Given the description of an element on the screen output the (x, y) to click on. 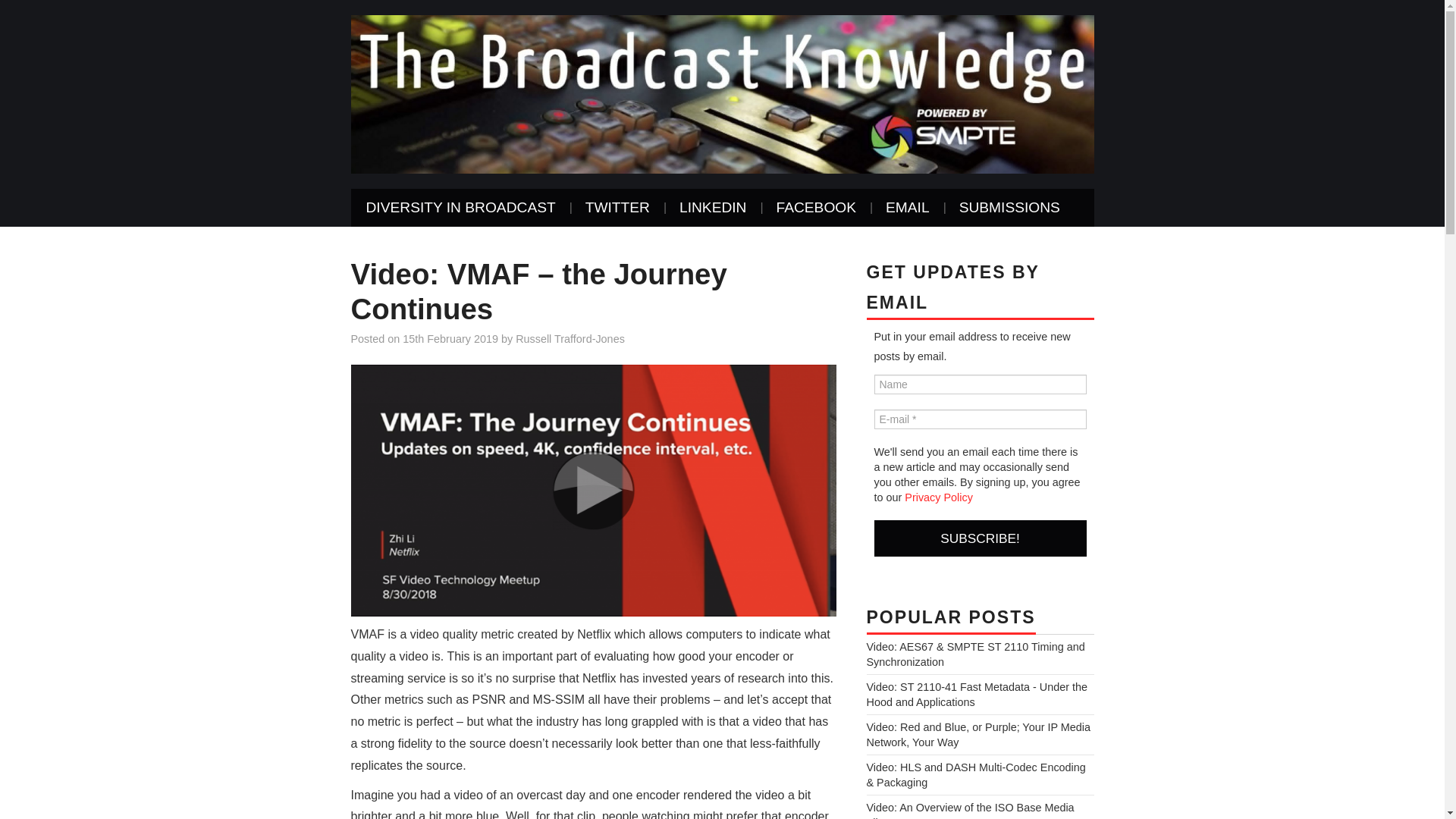
DIVERSITY IN BROADCAST (460, 207)
View all posts by Russell Trafford-Jones (569, 338)
Name (979, 383)
Subscribe! (979, 538)
E-mail (979, 419)
Privacy Policy (938, 497)
SUBMISSIONS (1009, 207)
The Broadcast Knowledge (721, 92)
